Given the description of an element on the screen output the (x, y) to click on. 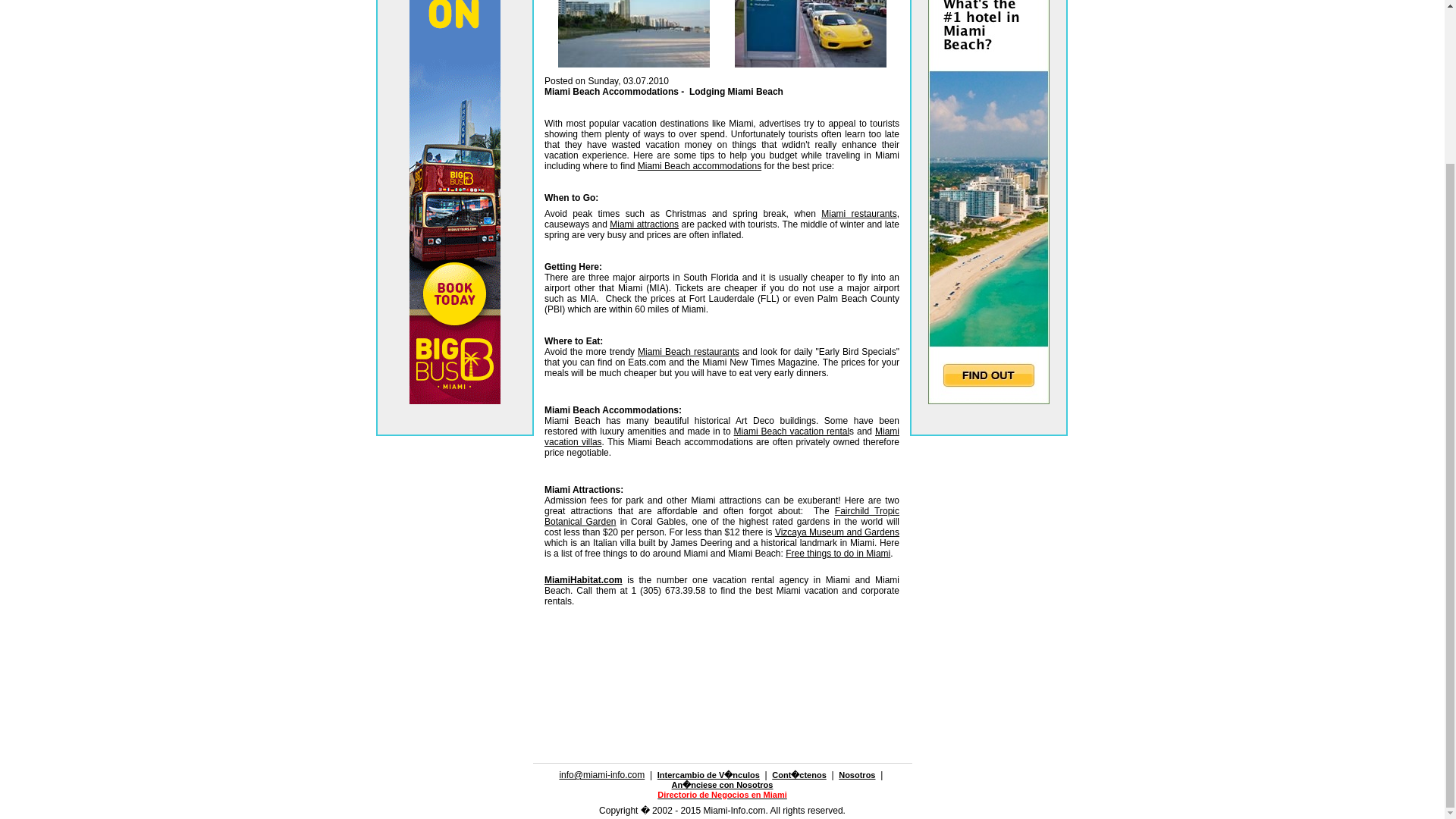
Advertisement (721, 712)
Advertisement (721, 667)
